Given the description of an element on the screen output the (x, y) to click on. 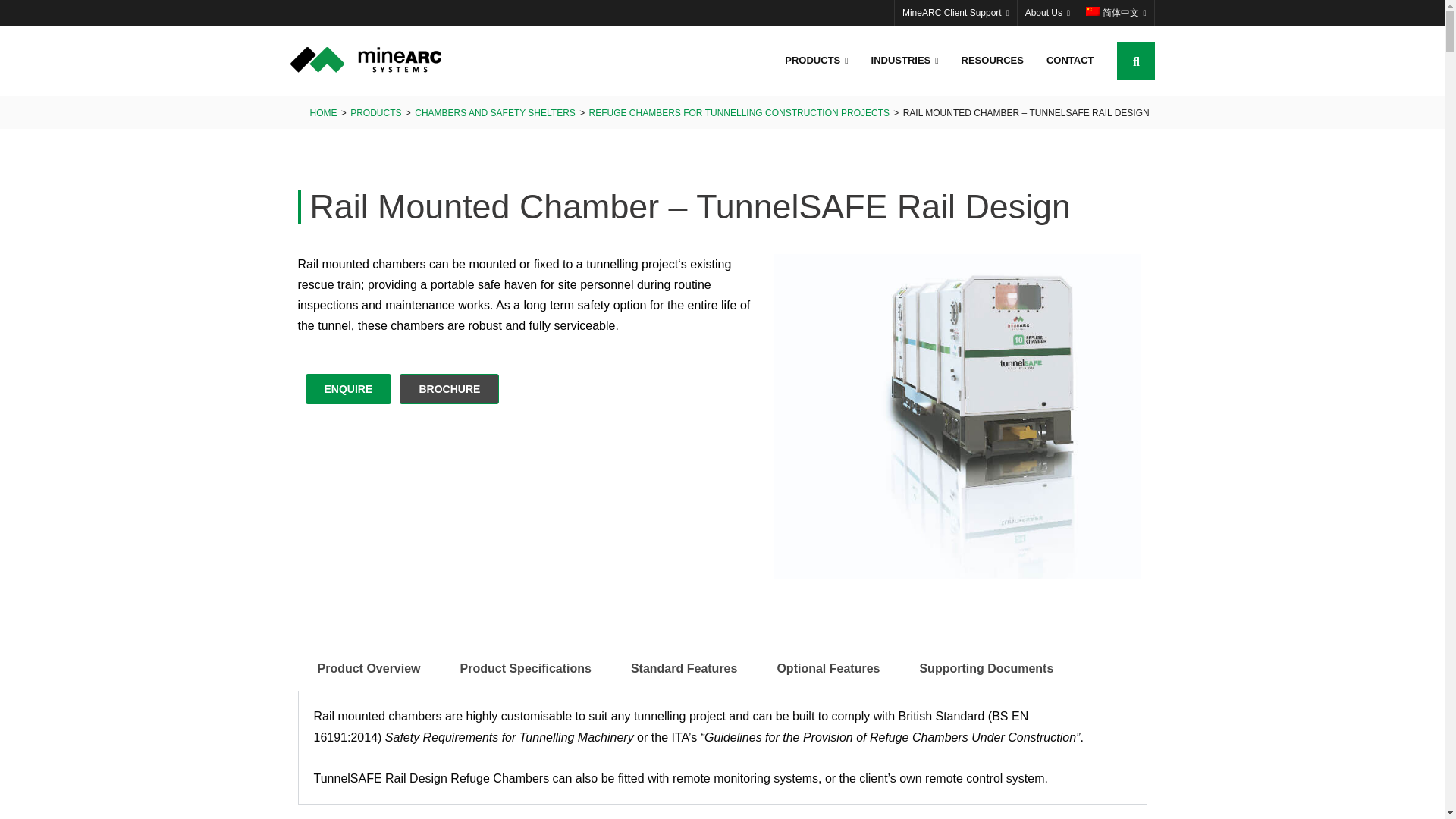
INDUSTRIES (905, 60)
MineARC Client Support (955, 12)
PRODUCTS (816, 60)
About Us (1047, 12)
